Given the description of an element on the screen output the (x, y) to click on. 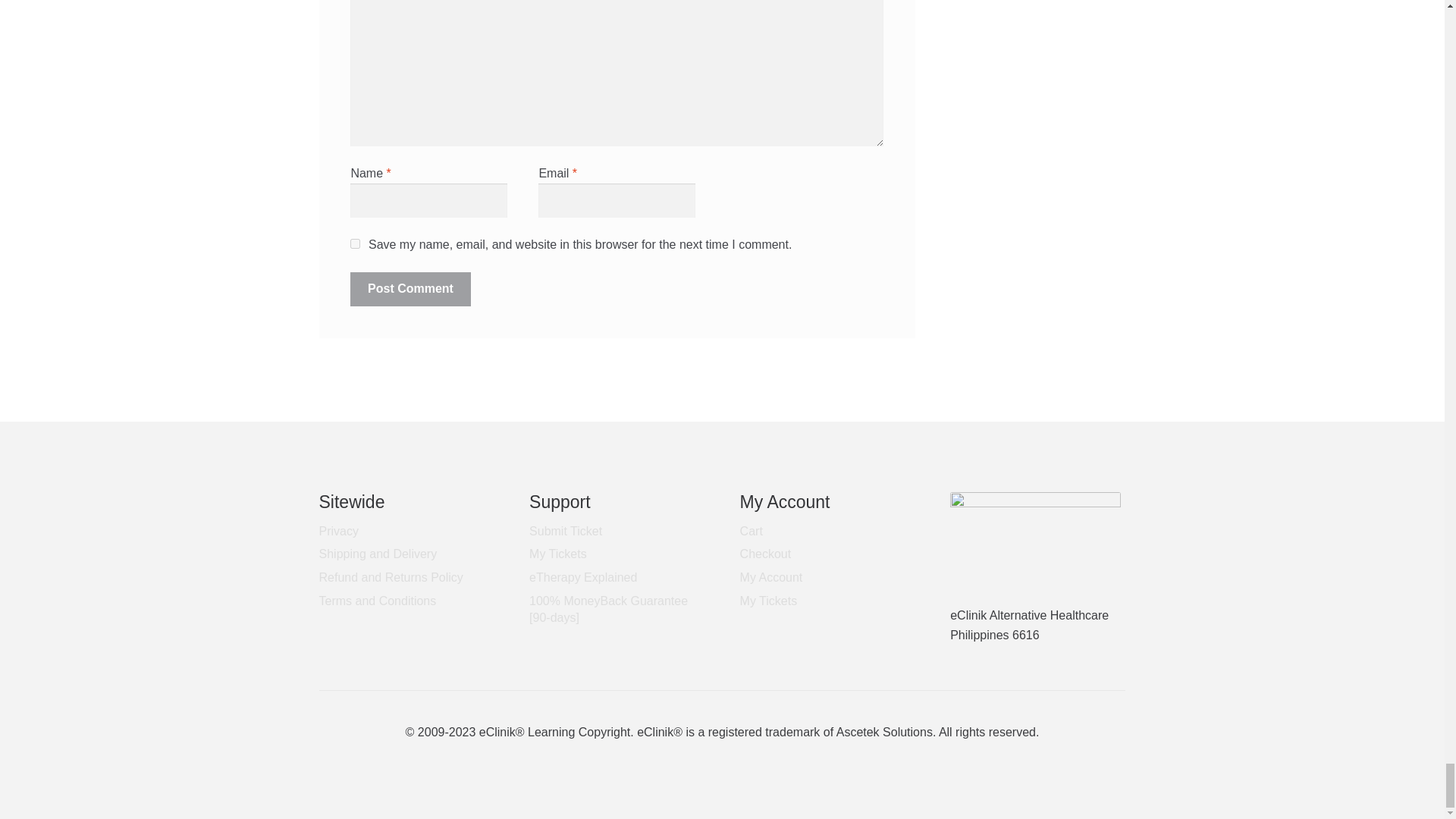
yes (354, 243)
Post Comment (410, 289)
